Given the description of an element on the screen output the (x, y) to click on. 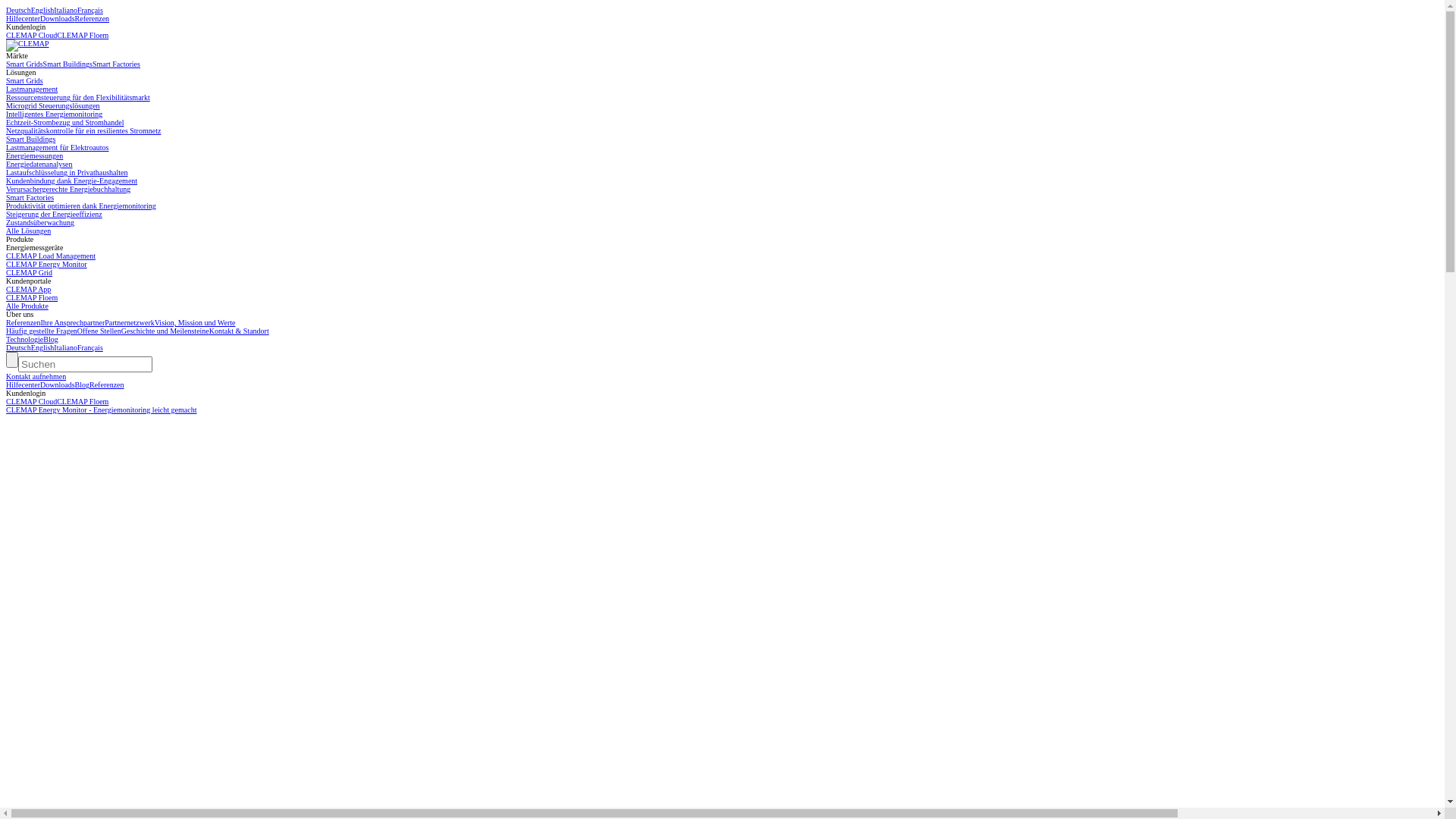
Geschichte und Meilensteine Element type: text (165, 330)
Smart Factories Element type: text (116, 63)
Downloads Element type: text (57, 384)
Smart Grids Element type: text (24, 63)
CLEMAP Floem Element type: text (82, 401)
Kontakt aufnehmen Element type: text (35, 376)
Steigerung der Energieeffizienz Element type: text (54, 214)
Italiano Element type: text (65, 347)
Blog Element type: text (50, 339)
Vision, Mission und Werte Element type: text (194, 322)
CLEMAP Energy Monitor - Energiemonitoring leicht gemacht Element type: text (722, 413)
CLEMAP Floem Element type: text (82, 35)
Kundenbindung dank Energie-Engagement Element type: text (71, 180)
CLEMAP Cloud Element type: text (31, 35)
Smart Grids Element type: text (24, 80)
CLEMAP Energy Monitor Element type: text (46, 264)
Kontakt & Standort Element type: text (239, 330)
Alle Produkte Element type: text (27, 305)
CLEMAP Load Management Element type: text (50, 255)
Referenzen Element type: text (92, 18)
Blog Element type: text (82, 384)
Lastmanagement Element type: text (31, 88)
Deutsch Element type: text (18, 347)
Downloads Element type: text (57, 18)
Referenzen Element type: text (106, 384)
Referenzen Element type: text (23, 322)
English Element type: text (42, 347)
CLEMAP App Element type: text (28, 289)
Smart Factories Element type: text (29, 197)
Hilfecenter Element type: text (23, 18)
Offene Stellen Element type: text (99, 330)
Energiedatenanalysen Element type: text (39, 164)
CLEMAP Grid Element type: text (29, 272)
Verursachergerechte Energiebuchhaltung Element type: text (68, 189)
Echtzeit-Strombezug und Stromhandel Element type: text (65, 122)
Ihre Ansprechpartner Element type: text (72, 322)
Partnernetzwerk Element type: text (129, 322)
Smart Buildings Element type: text (30, 138)
Technologie Element type: text (24, 339)
Energiemessungen Element type: text (34, 155)
English Element type: text (42, 10)
Intelligentes Energiemonitoring Element type: text (54, 113)
Hilfecenter Element type: text (23, 384)
Deutsch Element type: text (18, 10)
CLEMAP Cloud Element type: text (31, 401)
Smart Buildings Element type: text (67, 63)
CLEMAP Floem Element type: text (31, 297)
Italiano Element type: text (65, 10)
